Given the description of an element on the screen output the (x, y) to click on. 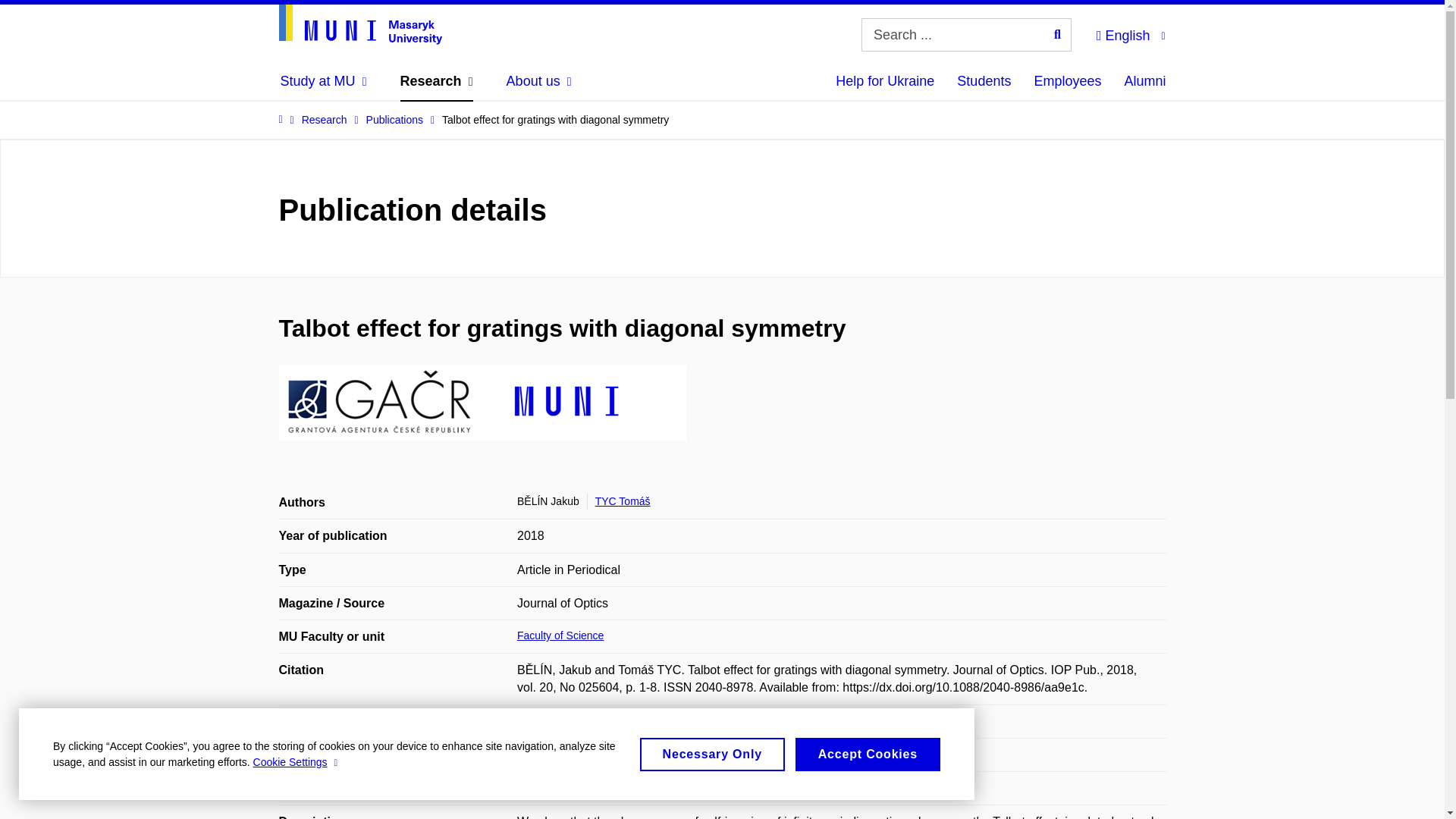
Study at MU (323, 80)
English (1130, 34)
Homepage site (360, 24)
Research (436, 80)
